Given the description of an element on the screen output the (x, y) to click on. 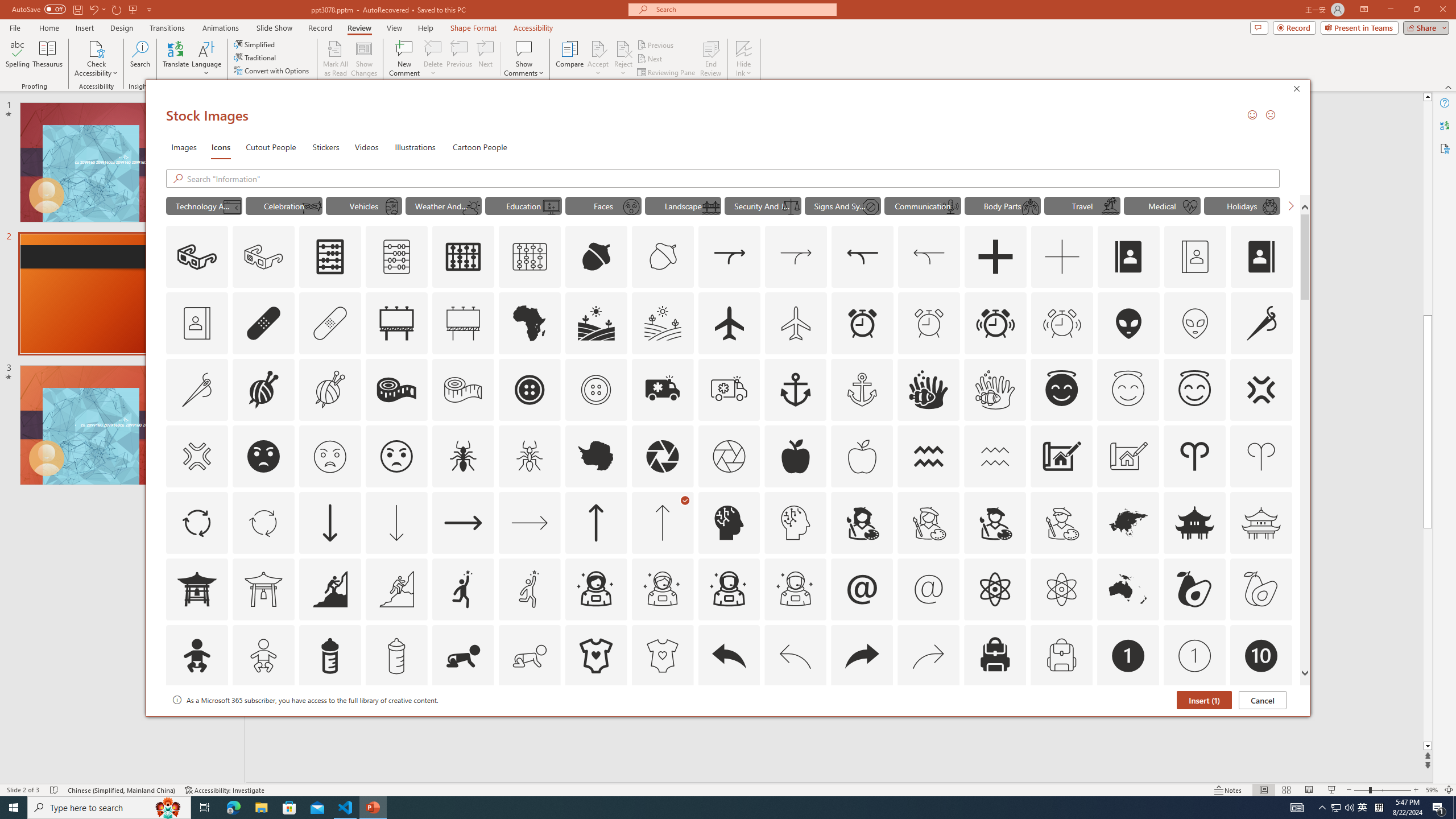
AutomationID: Icons_AstronautFemale_M (662, 588)
"Travel" Icons. (1082, 205)
AutomationID: Icons_Badge6 (795, 721)
AutomationID: Icons_Ambulance (662, 389)
AutomationID: Icons_AsianTemple1 (196, 588)
AutomationID: Icons_DizzyFace_M (631, 206)
AutomationID: Icons_Add_M (1062, 256)
AutomationID: Icons_AlterationsTailoring3 (529, 389)
